Given the description of an element on the screen output the (x, y) to click on. 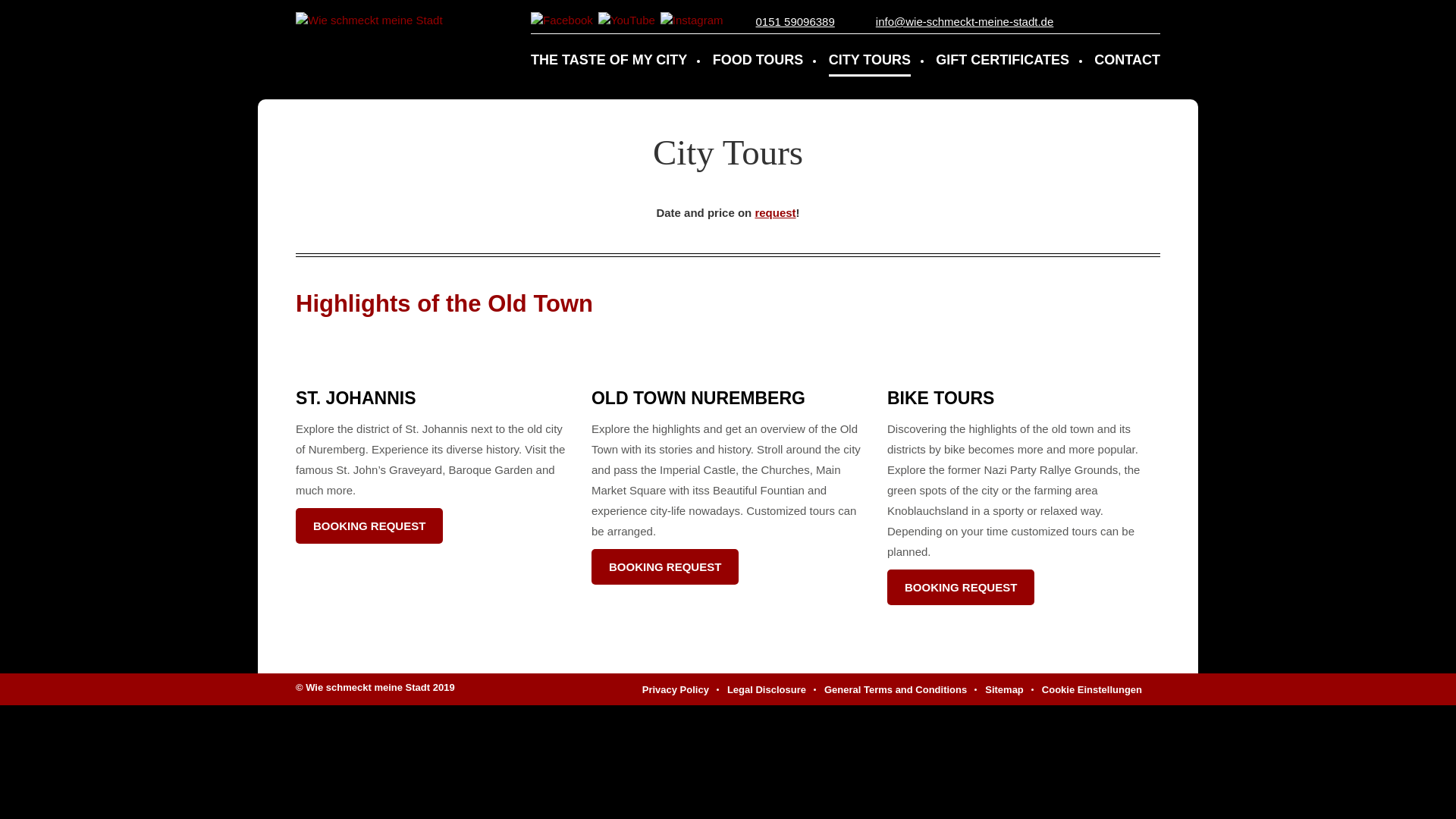
Instagram (692, 19)
FOOD TOURS (758, 54)
0151 59096389 (794, 21)
Suche (1149, 23)
Food Tours (758, 54)
Facebook (561, 19)
Wie schmeckt meine Stadt (368, 19)
CITY TOURS (869, 54)
THE TASTE OF MY CITY (609, 54)
GIFT CERTIFICATES (1002, 54)
YouTube (626, 19)
The Taste of my City (609, 54)
